Given the description of an element on the screen output the (x, y) to click on. 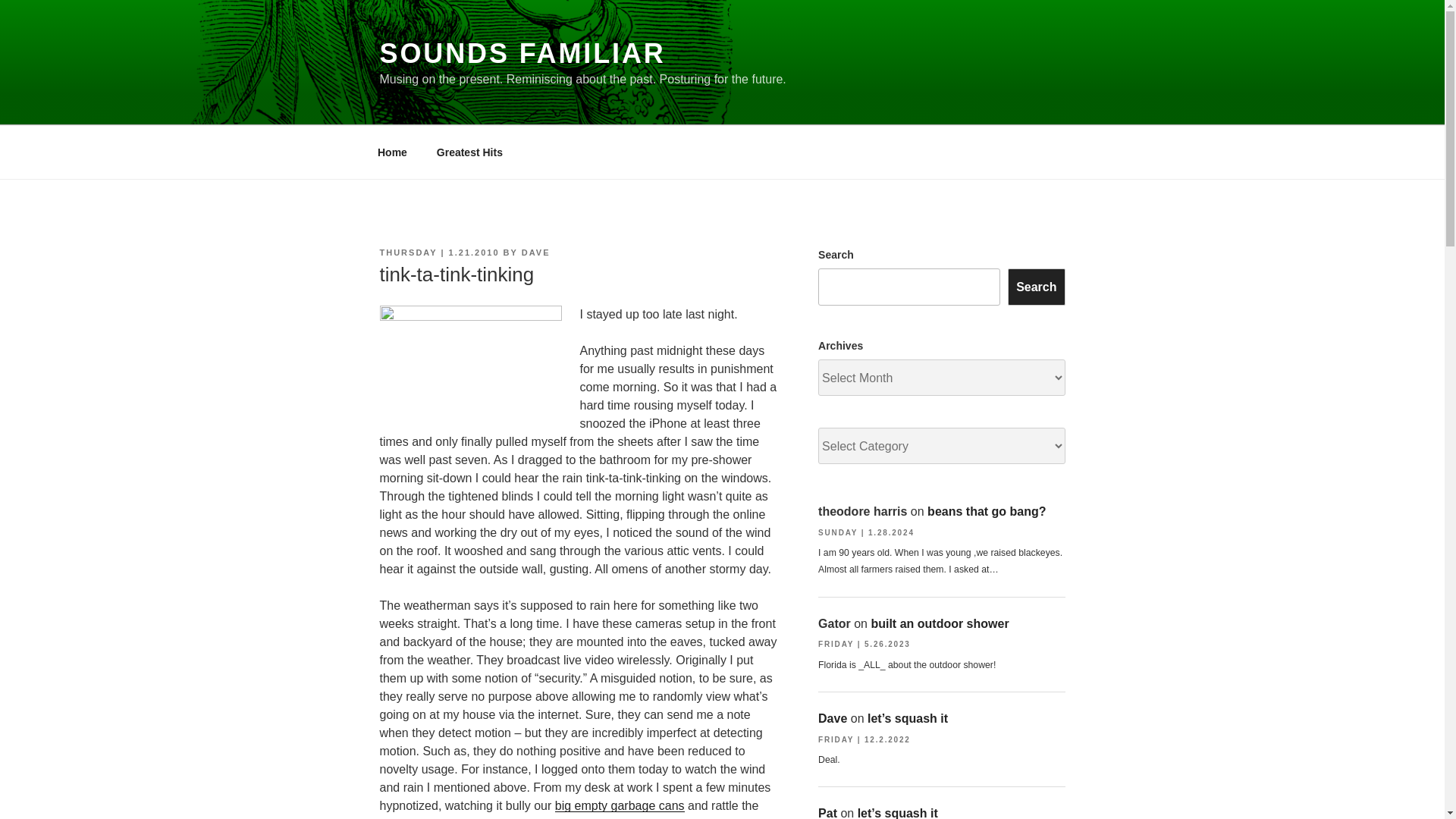
our fruit trees (501, 818)
DAVE (535, 252)
SOUNDS FAMILIAR (521, 52)
beans that go bang? (986, 511)
Home (392, 151)
big empty garbage cans (619, 805)
Search (1035, 286)
Dave (832, 717)
Greatest Hits (469, 151)
Wait! (469, 365)
built an outdoor shower (939, 623)
Pat (827, 812)
